Given the description of an element on the screen output the (x, y) to click on. 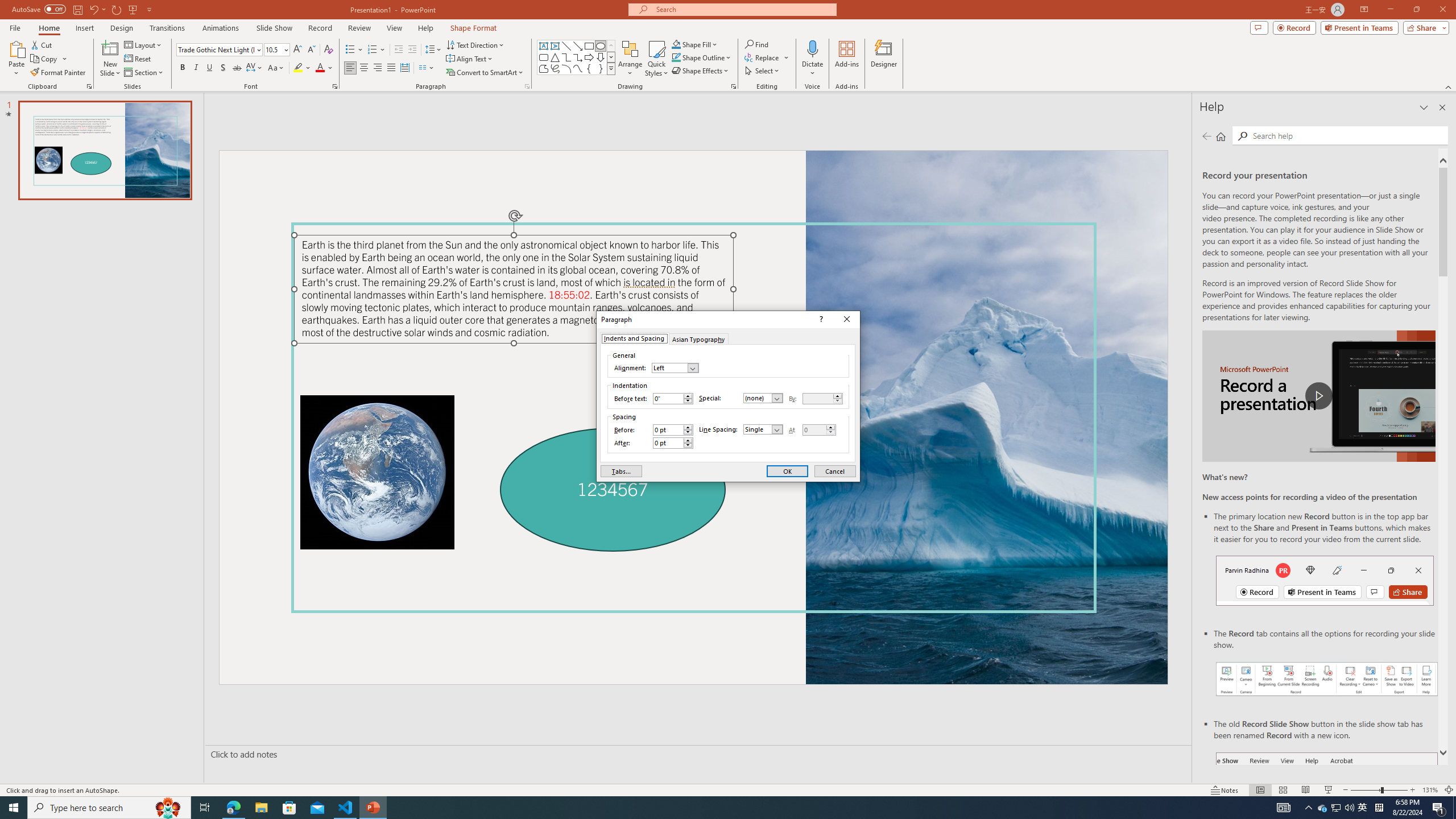
play Record a Presentation (1318, 395)
